Given the description of an element on the screen output the (x, y) to click on. 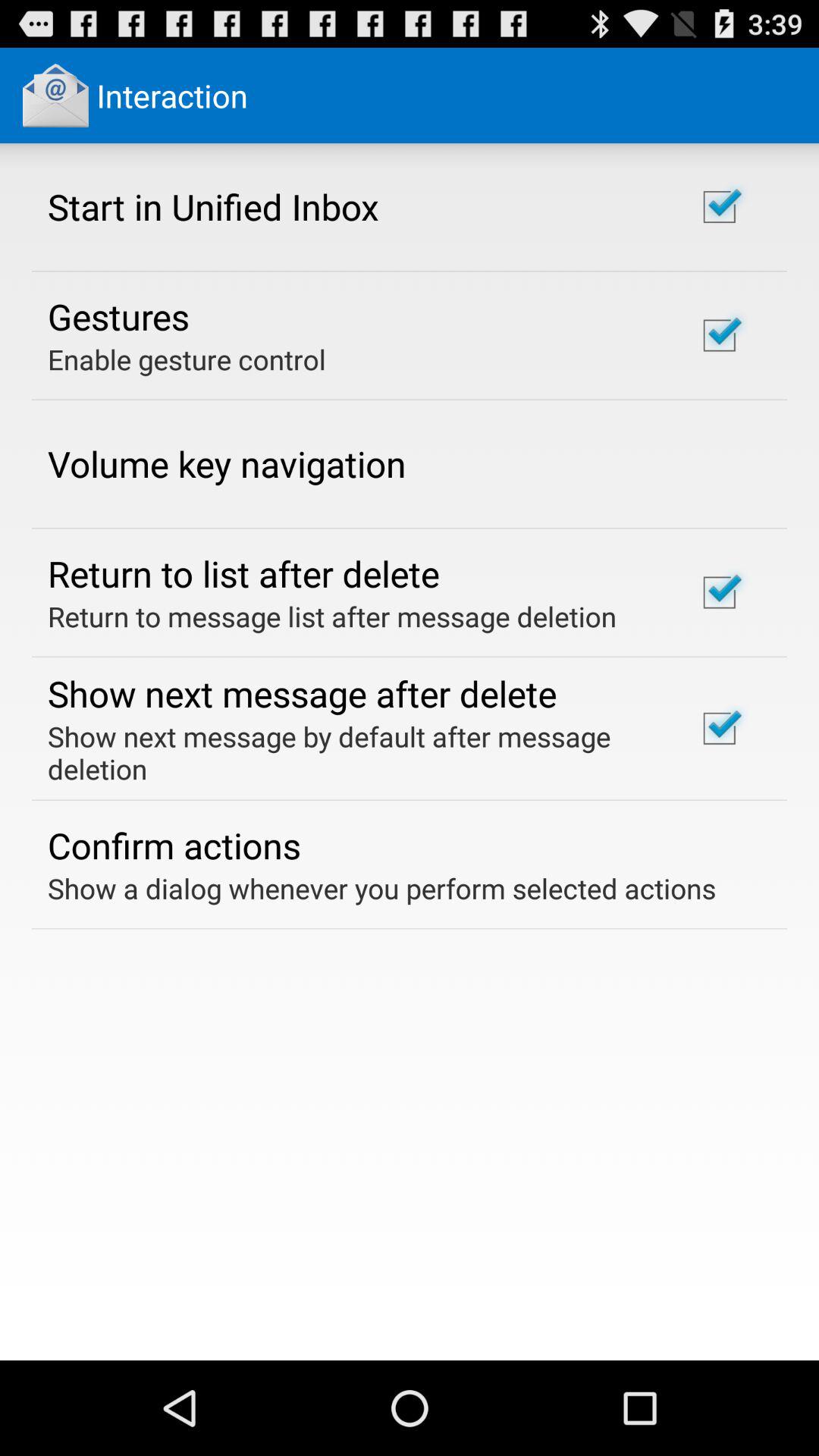
turn off the app below show next message (173, 845)
